Given the description of an element on the screen output the (x, y) to click on. 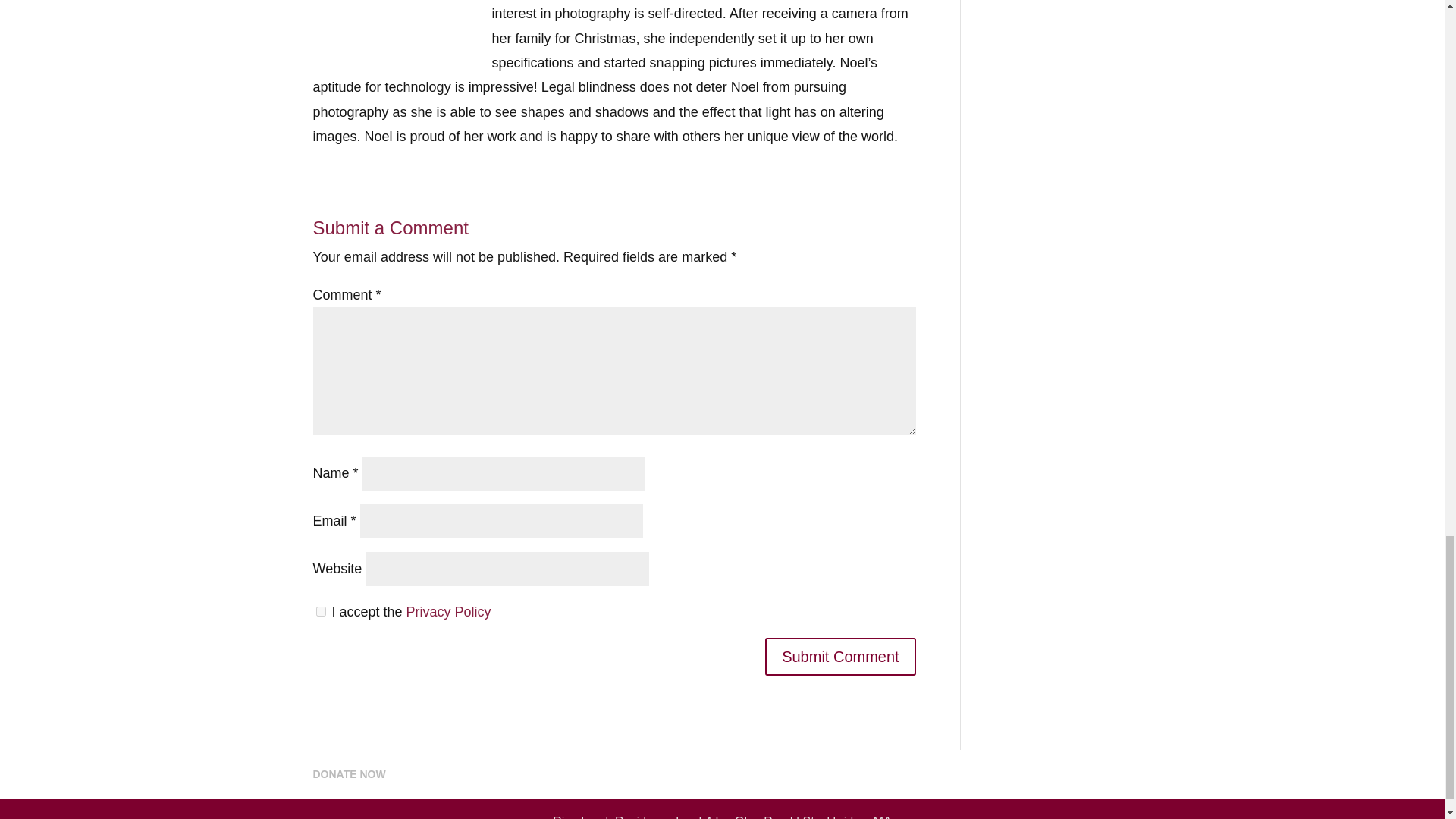
DONATE NOW (349, 774)
Submit Comment (840, 656)
Submit Comment (840, 656)
1 (319, 611)
Privacy Policy (449, 611)
